Given the description of an element on the screen output the (x, y) to click on. 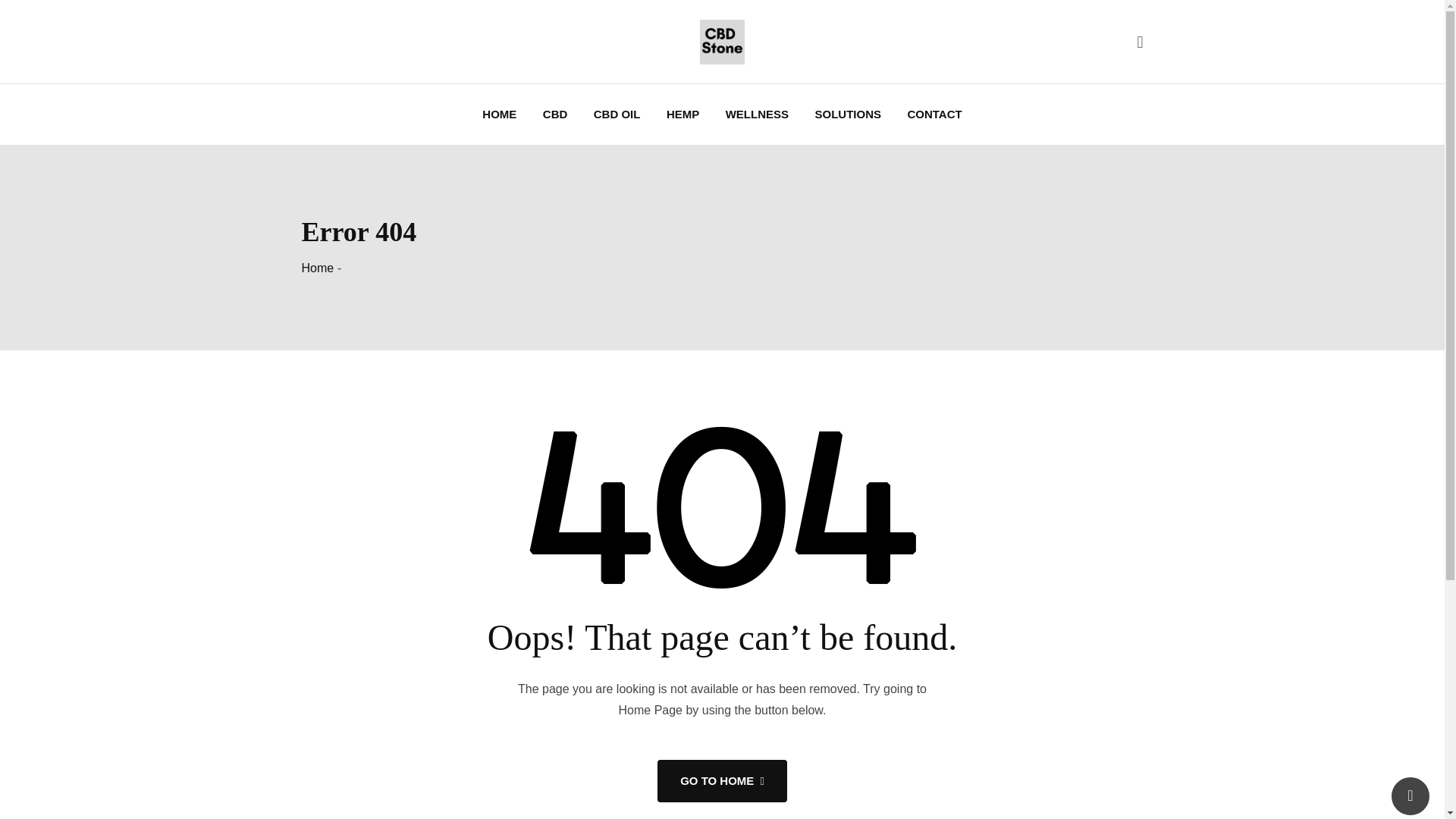
GO TO HOME (722, 781)
WELLNESS (756, 114)
CBD OIL (617, 114)
HEMP (682, 114)
HOME (498, 114)
Home (317, 267)
CONTACT (933, 114)
SOLUTIONS (847, 114)
